Given the description of an element on the screen output the (x, y) to click on. 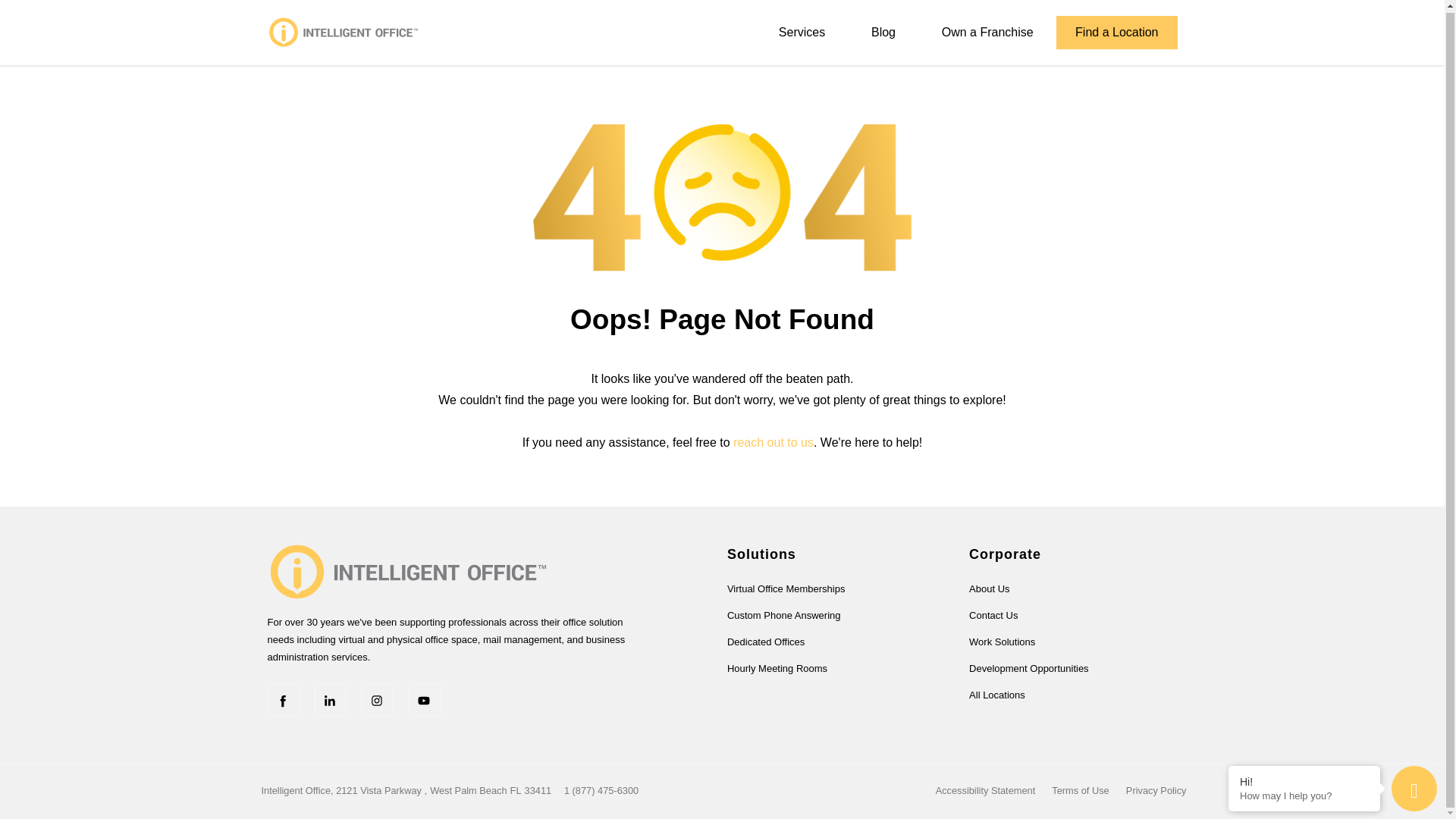
Linkedin (330, 699)
Skip to main content (721, 40)
Find a Location (1116, 30)
Instagram (377, 699)
Facebook (282, 699)
Facebook (282, 699)
Linkedin (330, 699)
Hi! (1304, 779)
Blog (883, 30)
Youtube (423, 699)
Own a Franchise (987, 30)
How may I help you? (1304, 794)
reach out to us (773, 441)
Intelligent Office (407, 570)
Services (801, 30)
